Given the description of an element on the screen output the (x, y) to click on. 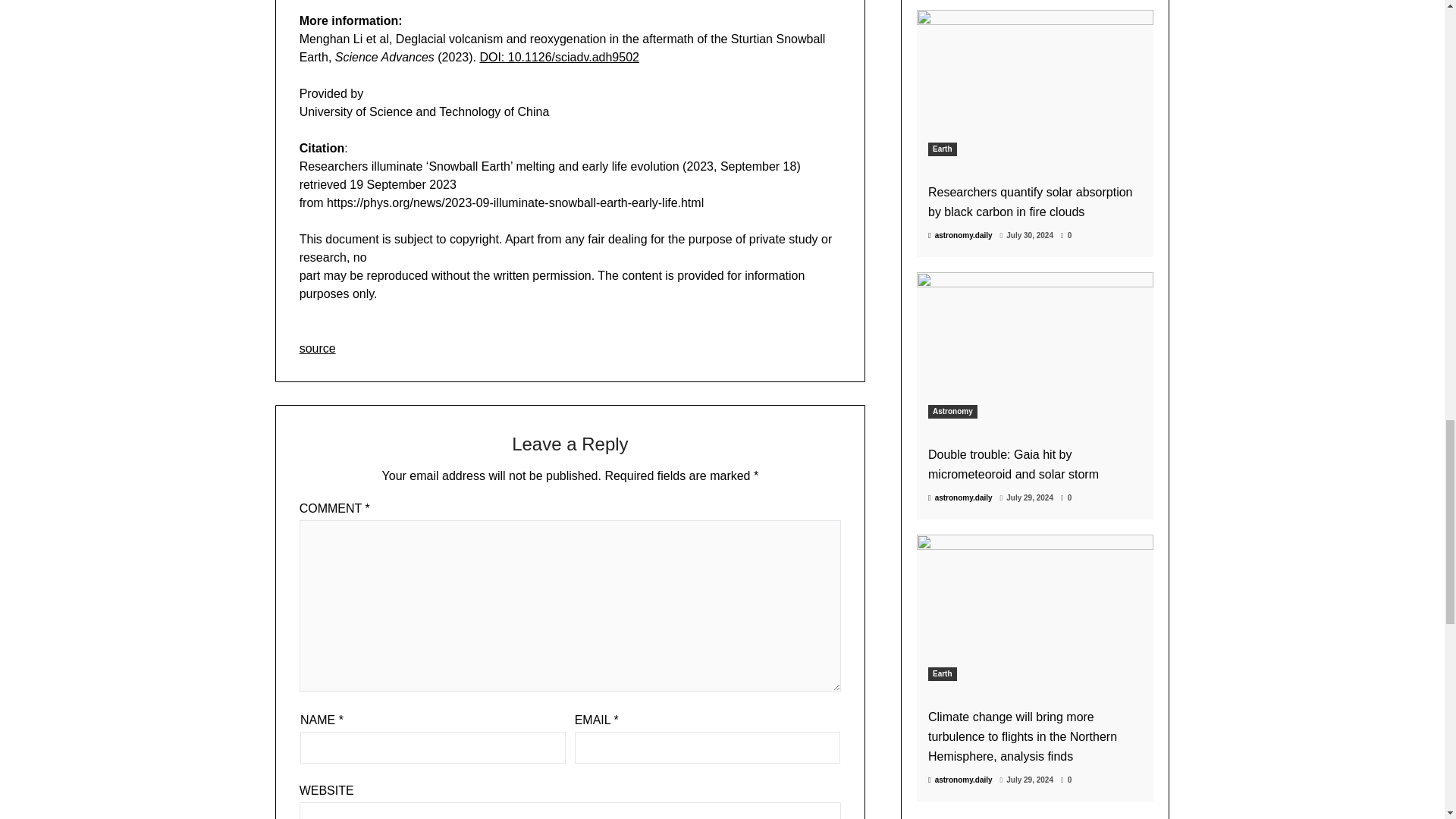
source (317, 347)
